Given the description of an element on the screen output the (x, y) to click on. 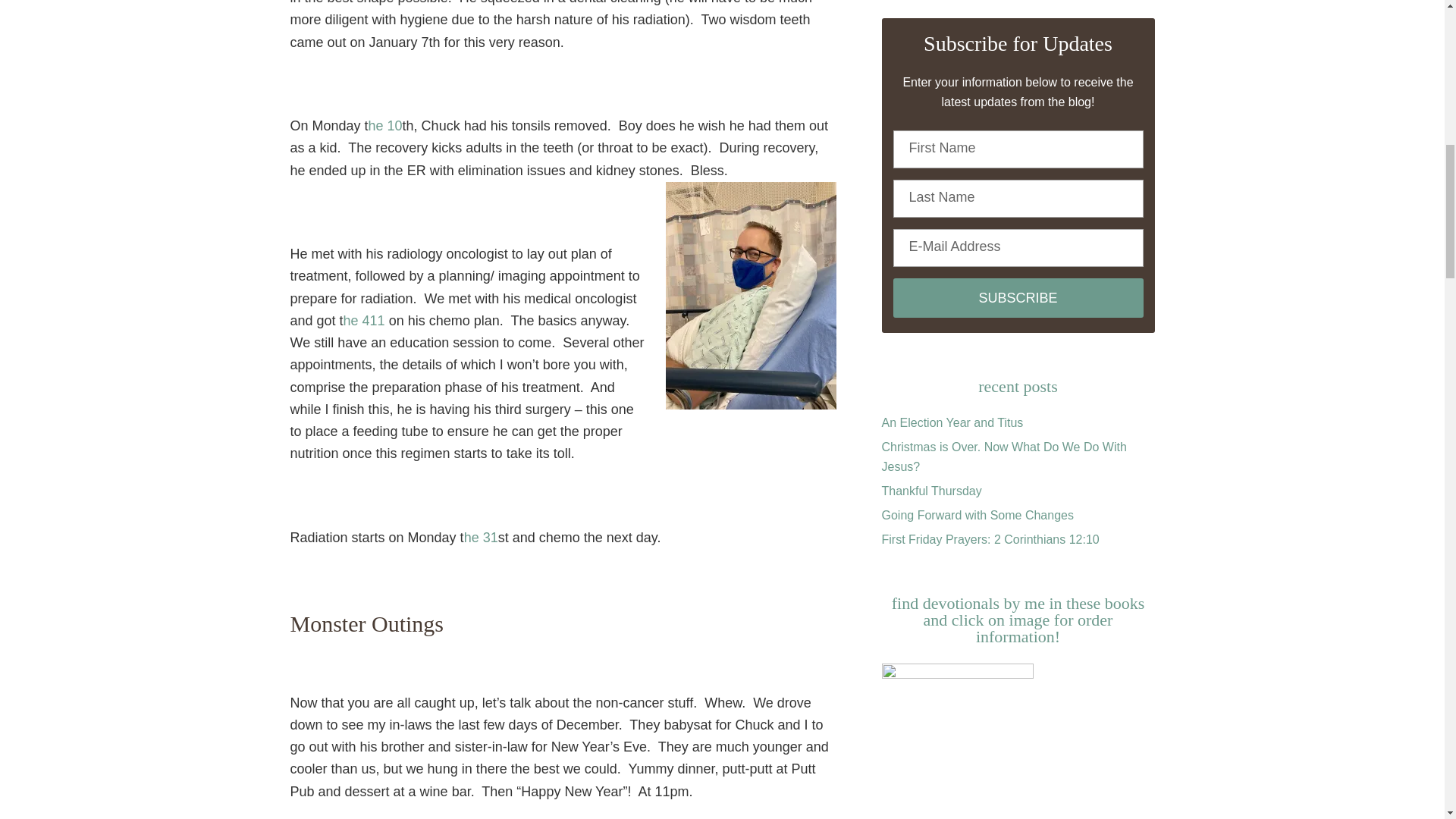
Subscribe (1017, 297)
he 411 (364, 320)
he 31 (480, 537)
he 10 (385, 125)
